Given the description of an element on the screen output the (x, y) to click on. 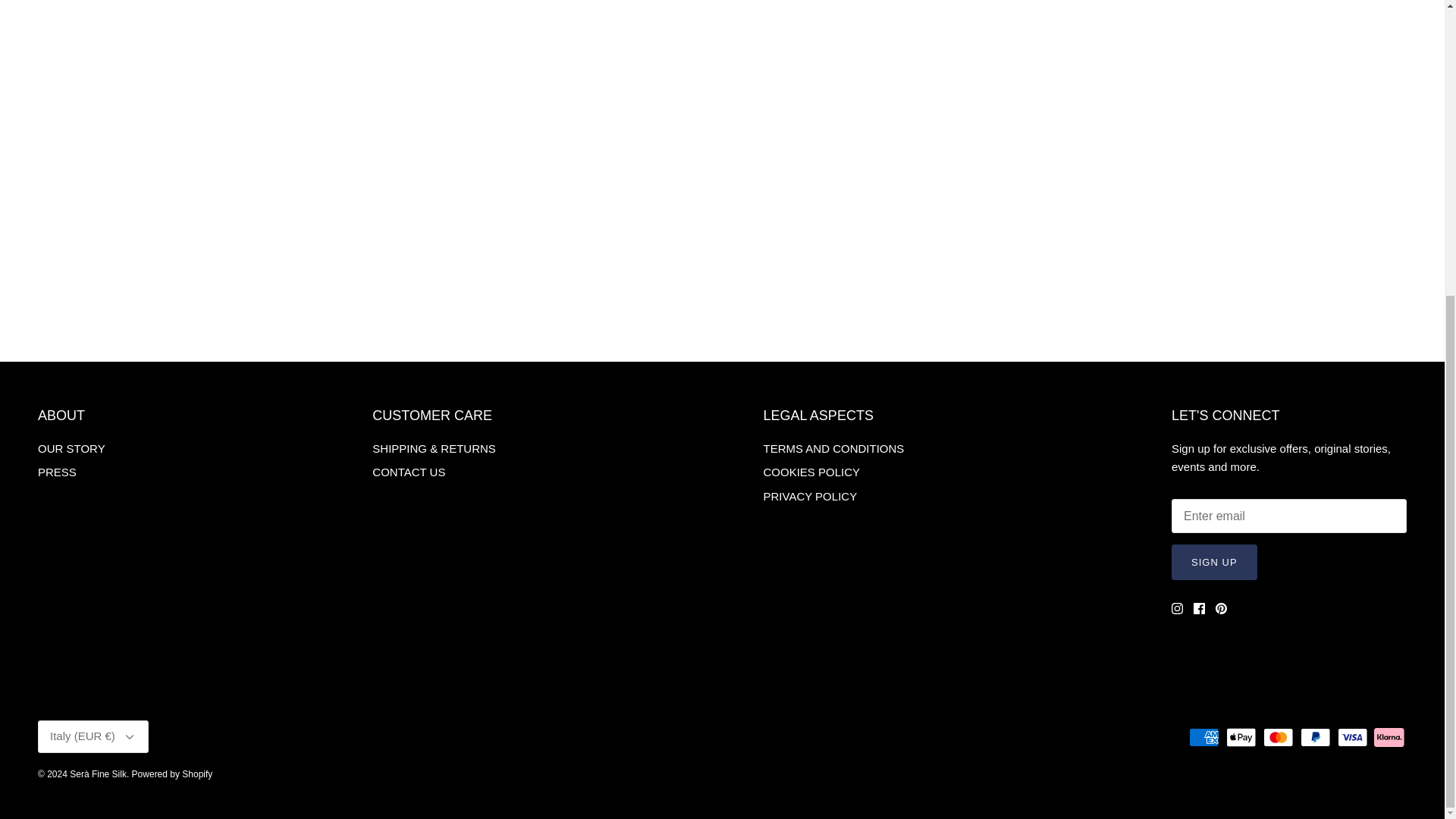
Klarna (1388, 737)
Instagram (1177, 608)
Down (129, 736)
Facebook (1199, 608)
Apple Pay (1240, 737)
Pinterest (1221, 608)
Mastercard (1277, 737)
PayPal (1315, 737)
American Express (1203, 737)
Visa (1352, 737)
